Given the description of an element on the screen output the (x, y) to click on. 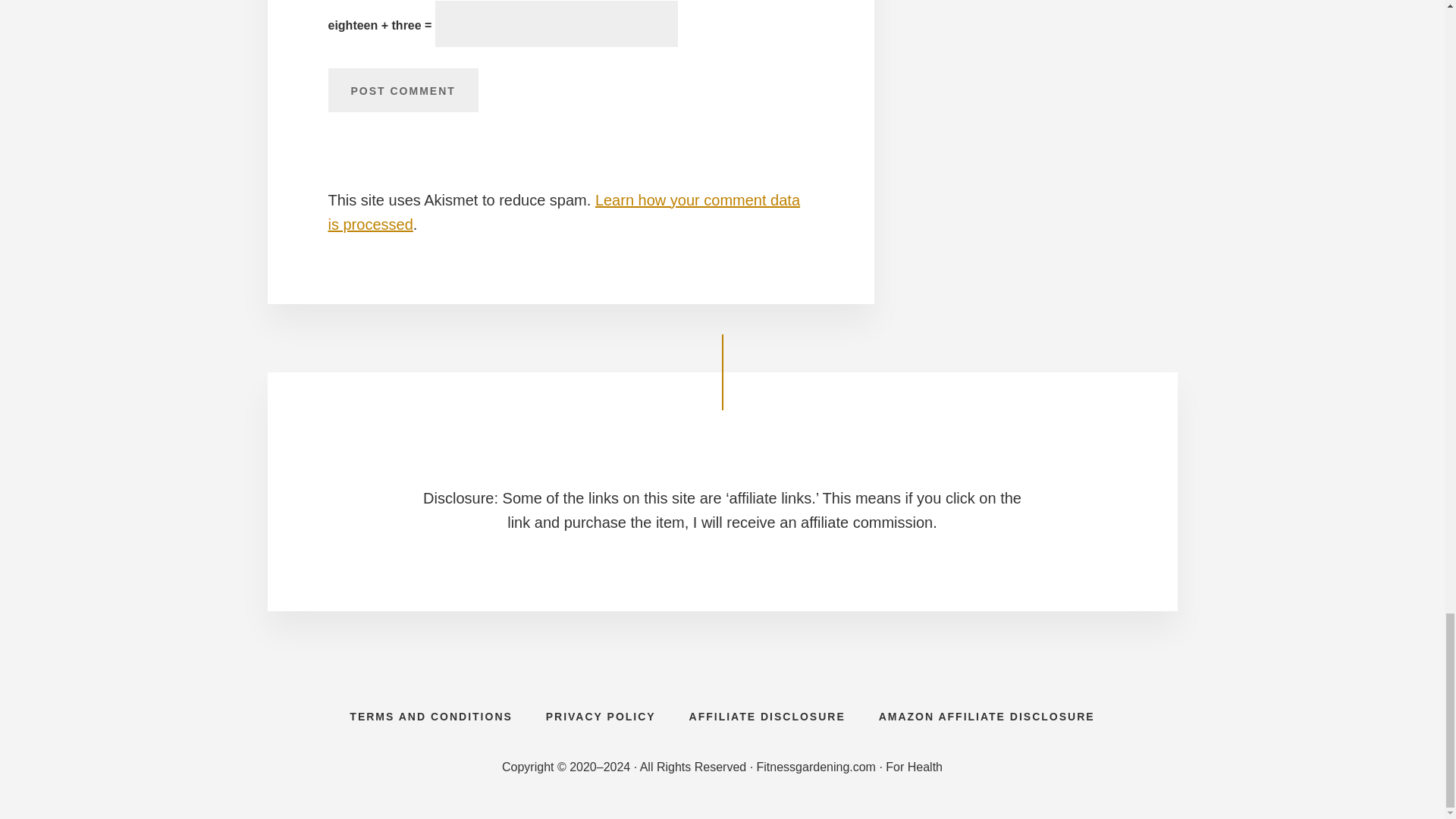
TERMS AND CONDITIONS (430, 716)
PRIVACY POLICY (601, 716)
AFFILIATE DISCLOSURE (767, 716)
Post Comment (402, 89)
Post Comment (402, 89)
Learn how your comment data is processed (563, 212)
AMAZON AFFILIATE DISCLOSURE (986, 716)
